Given the description of an element on the screen output the (x, y) to click on. 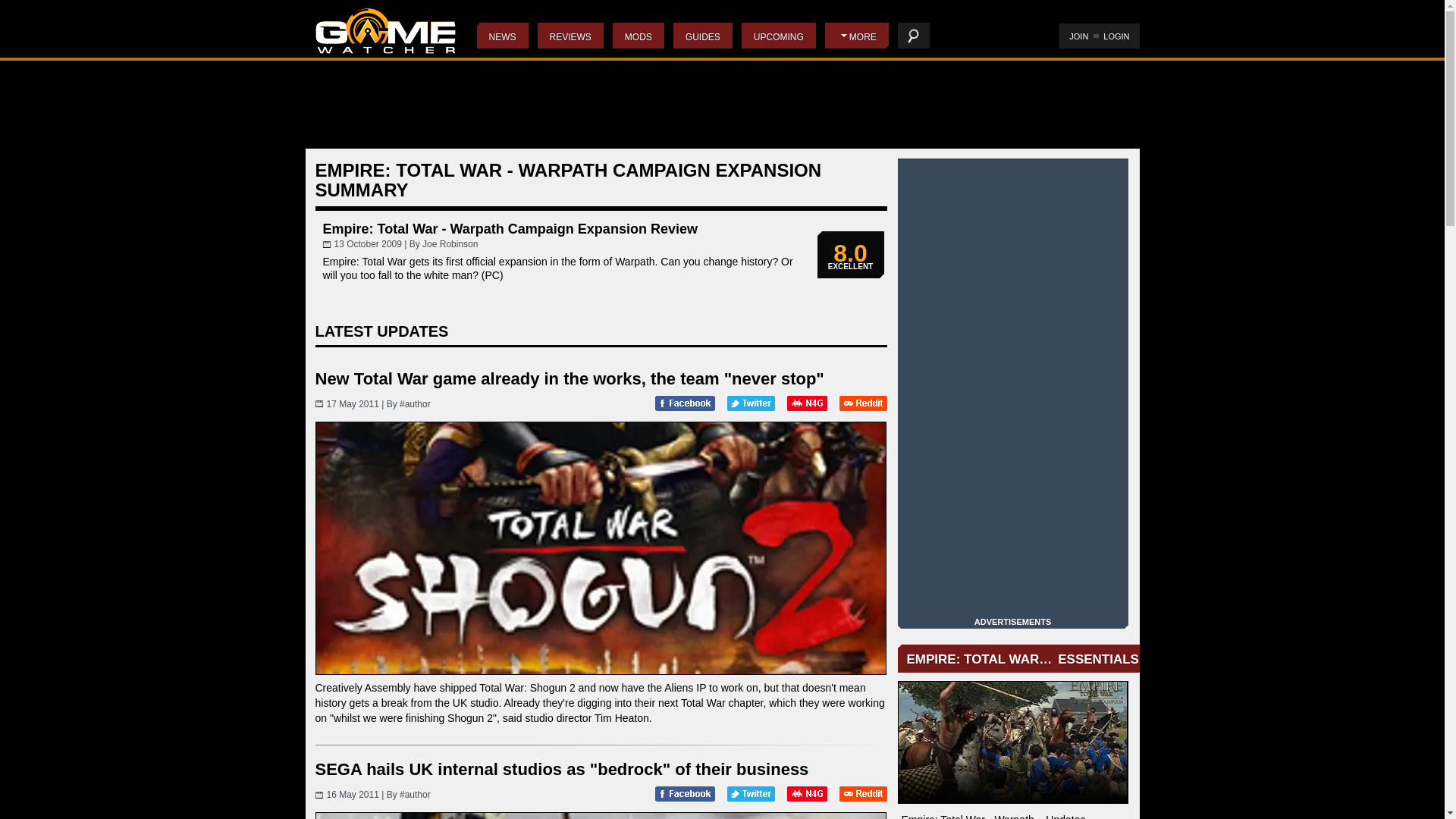
MORE (856, 35)
GUIDES (702, 35)
REVIEWS (569, 35)
UPCOMING (778, 35)
LOGIN (1116, 36)
MODS (637, 35)
Empire: Total War - Warpath Campaign Expansion Review (510, 228)
Empire: Total War - Warpath Campaign Expansion (1013, 741)
